Given the description of an element on the screen output the (x, y) to click on. 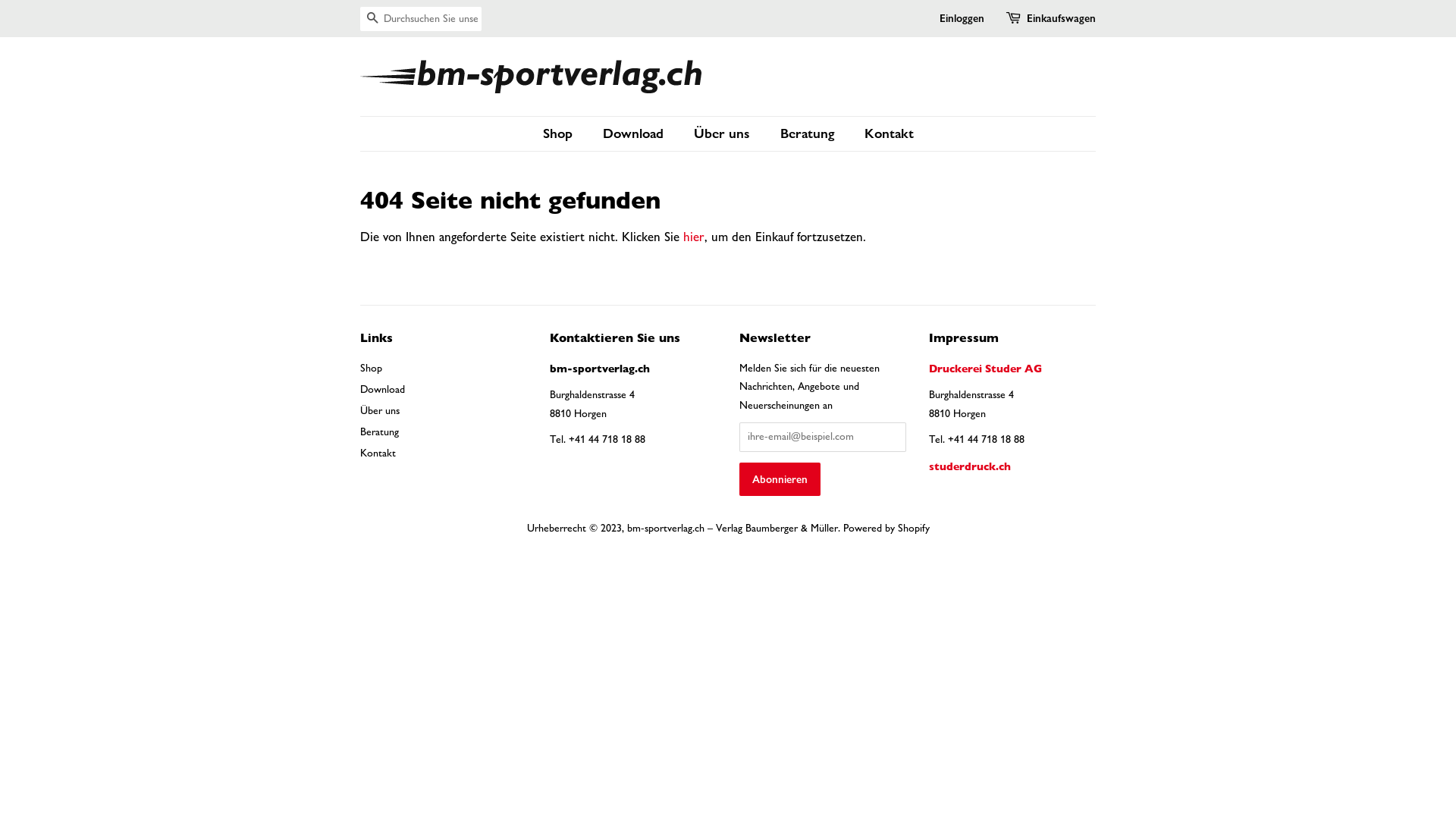
Kontakt Element type: text (882, 133)
Einkaufswagen Element type: text (1060, 18)
Druckerei Studer AG Element type: text (984, 368)
Download Element type: text (382, 388)
Beratung Element type: text (379, 431)
Kontakt Element type: text (377, 452)
Einloggen Element type: text (961, 18)
Beratung Element type: text (808, 133)
Abonnieren Element type: text (779, 478)
Shop Element type: text (564, 133)
Suchen Element type: text (372, 18)
hier Element type: text (693, 236)
Shop Element type: text (371, 367)
Download Element type: text (634, 133)
studerdruck.ch Element type: text (969, 466)
